Given the description of an element on the screen output the (x, y) to click on. 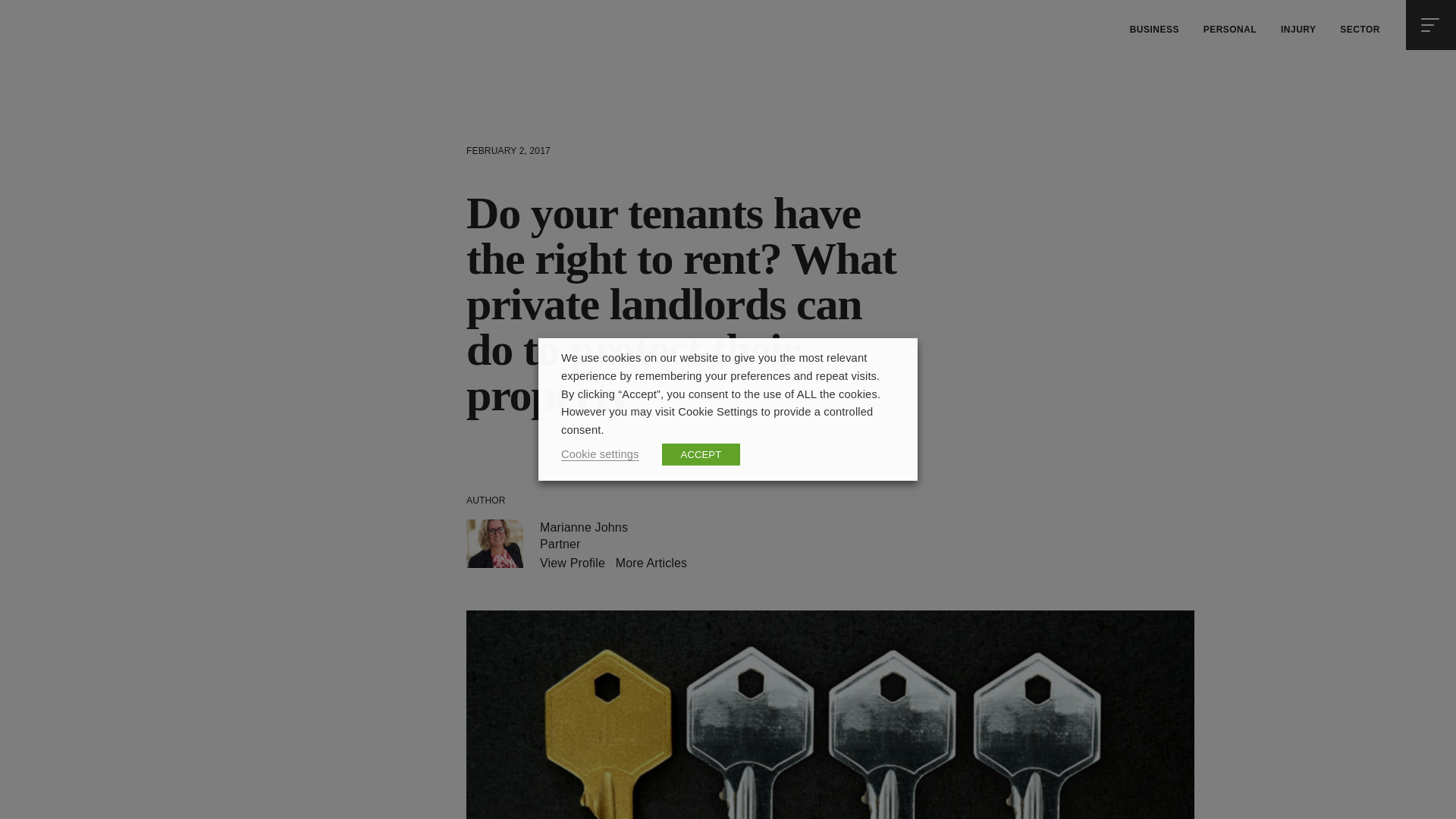
INJURY (1297, 30)
SECTOR (1359, 30)
BUSINESS (1154, 30)
PERSONAL (1230, 30)
Royds Withy King (59, 25)
